Given the description of an element on the screen output the (x, y) to click on. 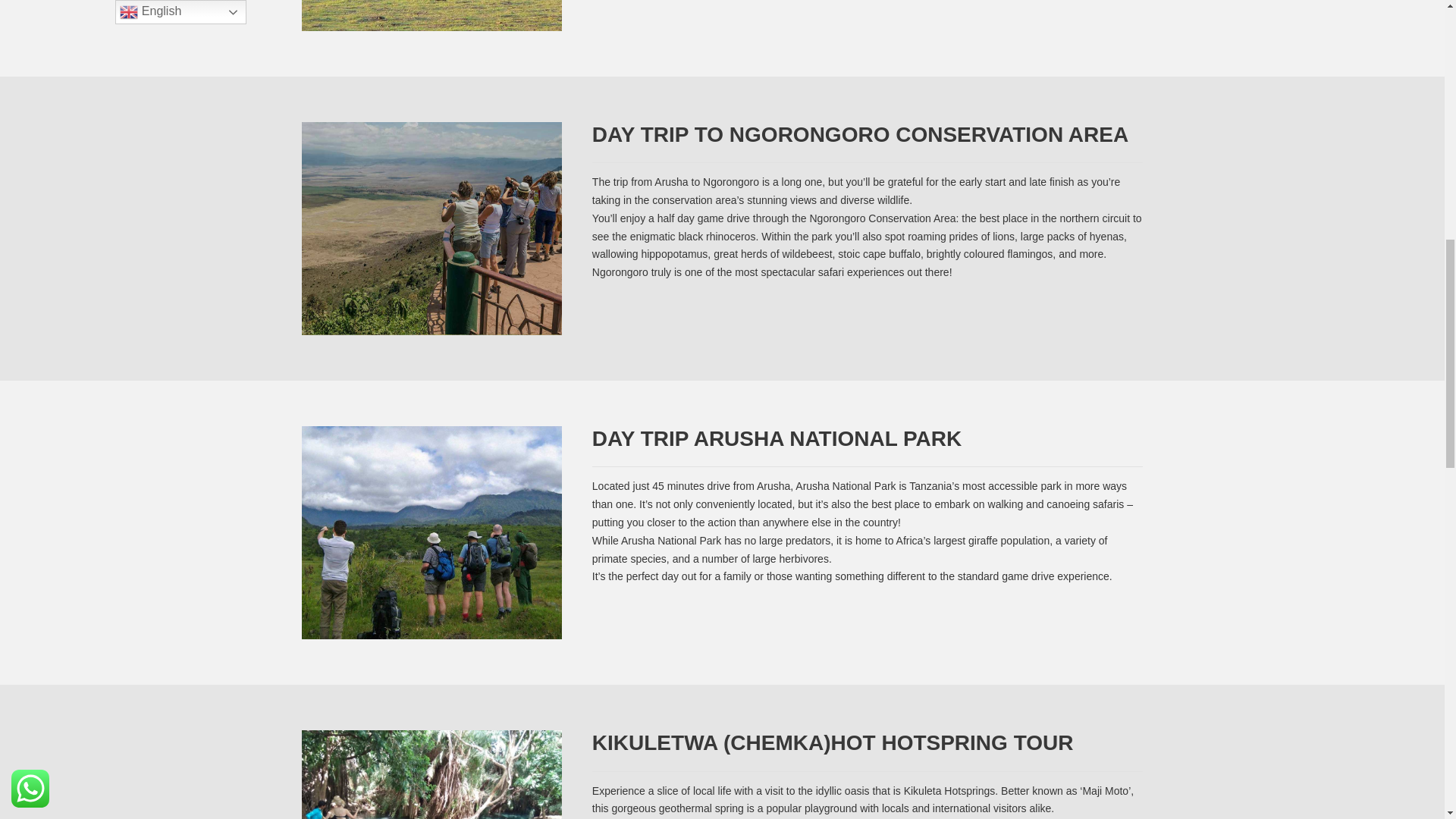
ONE-DAY-SAFARI-LAKE-MANYARA-NATIONAL-PARK (431, 15)
